Given the description of an element on the screen output the (x, y) to click on. 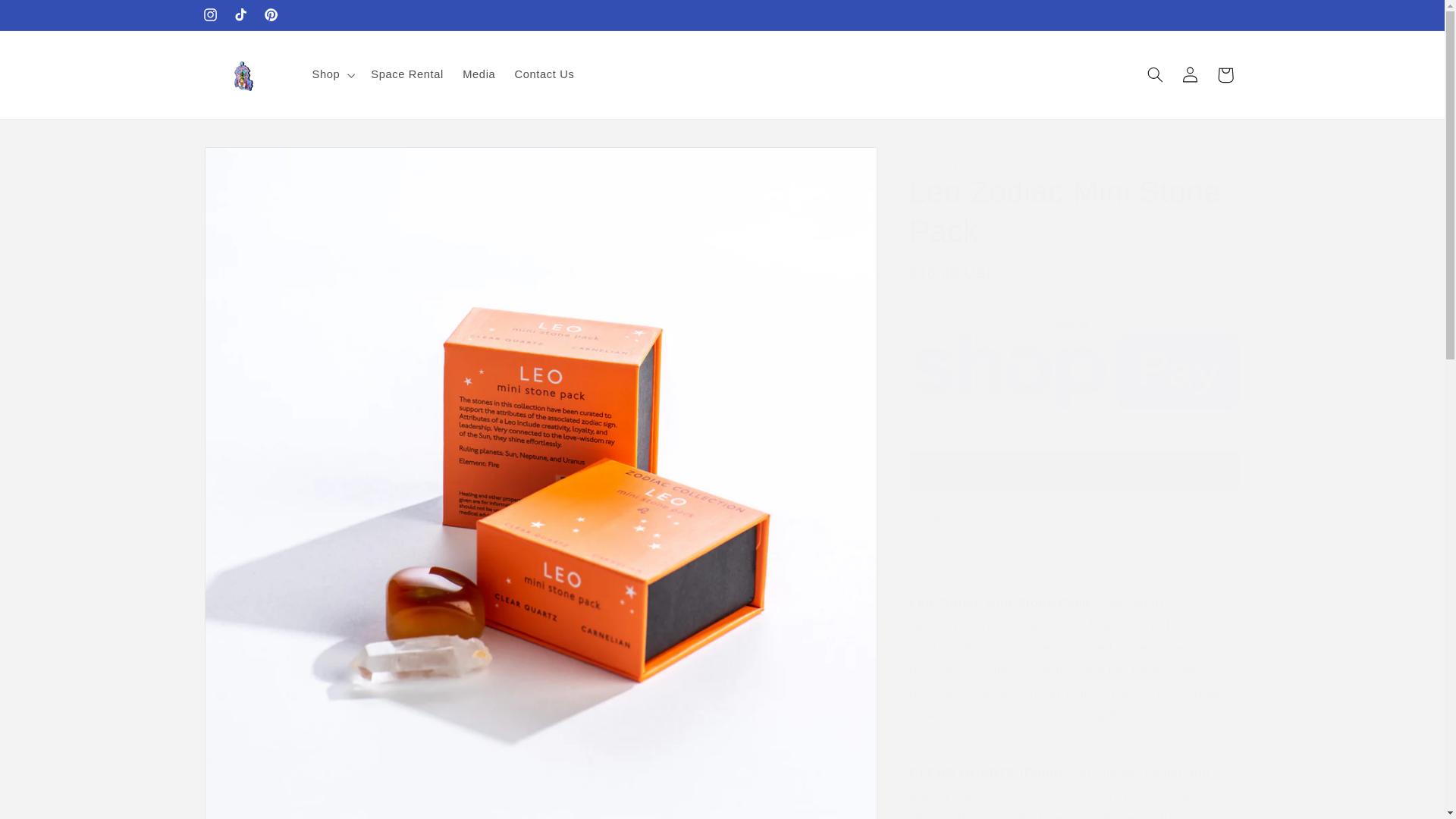
Contact Us (544, 74)
Log in (1190, 74)
Skip to product information (252, 165)
Media (478, 74)
1 (962, 552)
TikTok (240, 15)
Skip to content (48, 18)
Cart (1225, 74)
Space Rental (406, 74)
